Given the description of an element on the screen output the (x, y) to click on. 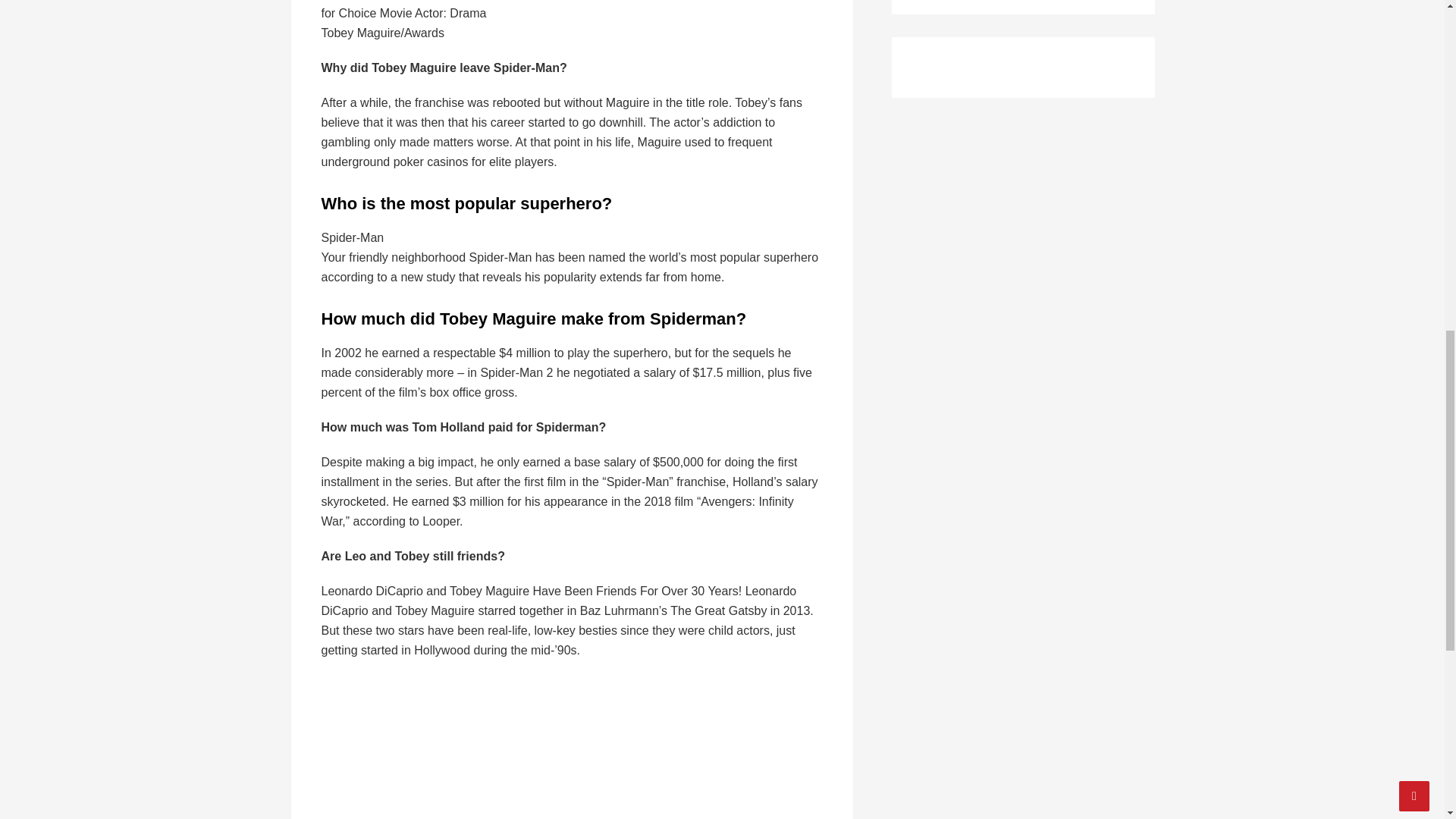
Why Tobey Maguire Will Always Be the Best Spider-Man (563, 747)
